Given the description of an element on the screen output the (x, y) to click on. 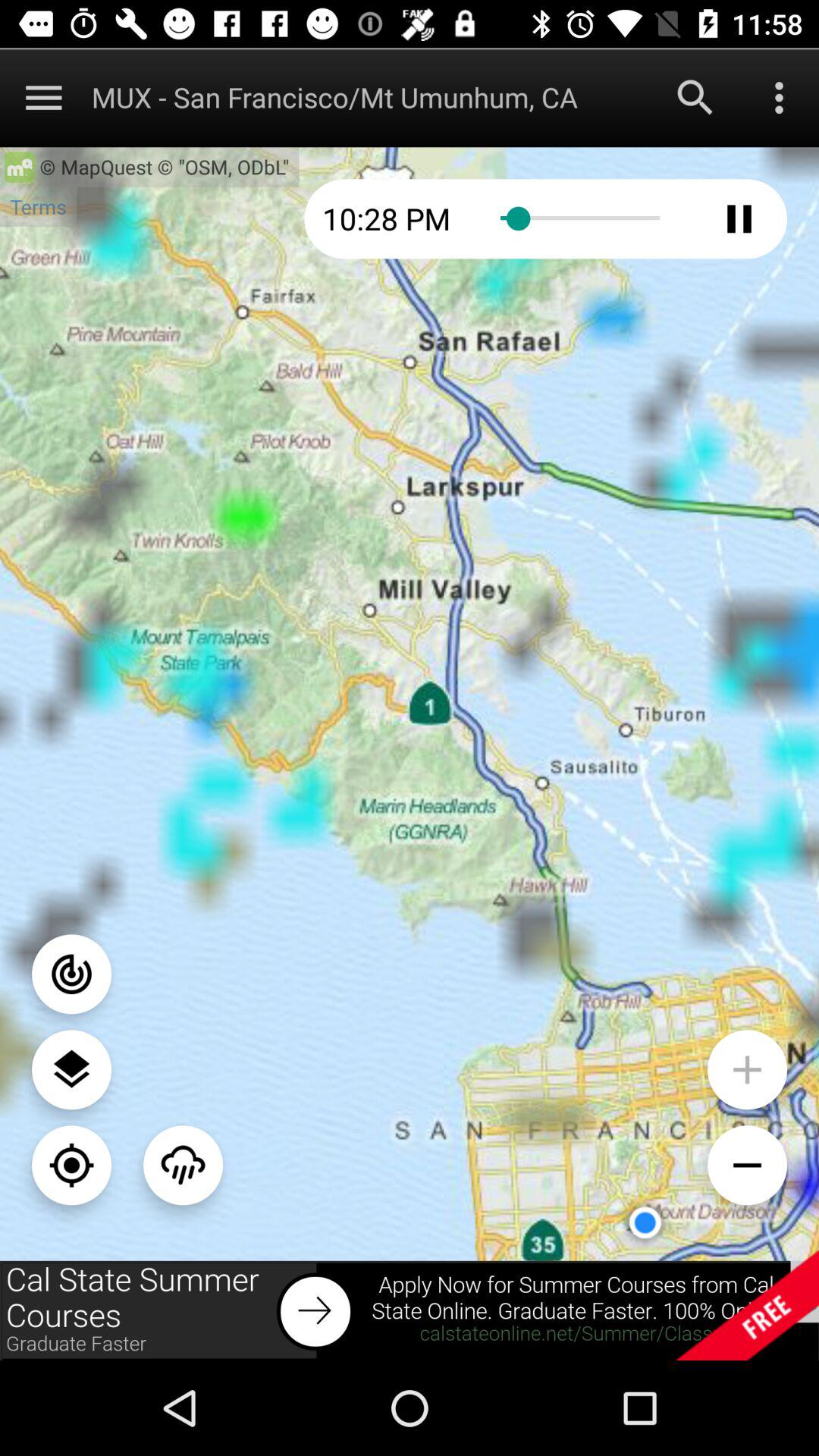
map type option (71, 1069)
